Given the description of an element on the screen output the (x, y) to click on. 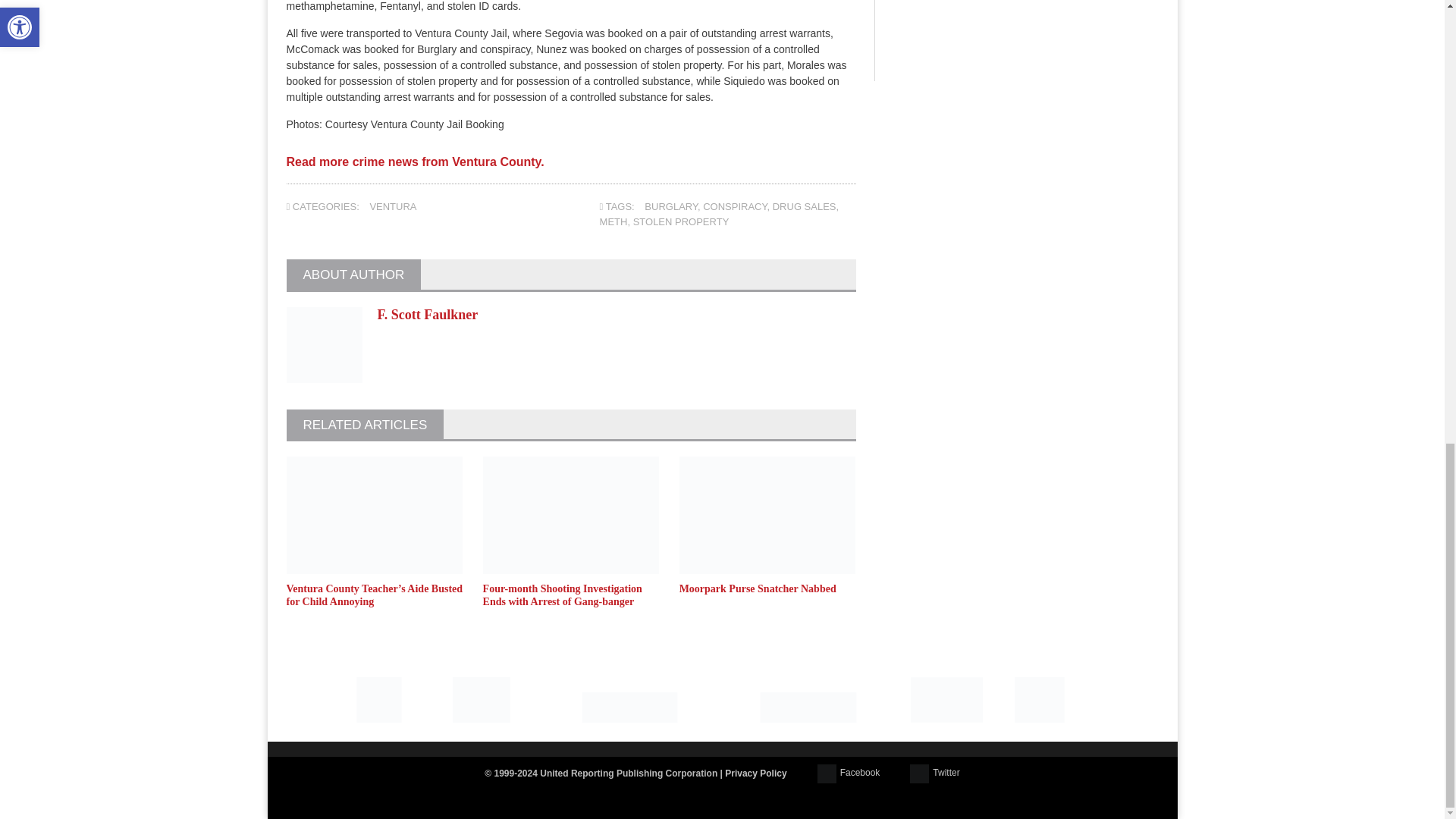
F. Scott Faulkner (428, 314)
Read more crime news from Ventura County. (415, 167)
VENTURA (392, 206)
BURGLARY (671, 206)
METH (613, 221)
STOLEN PROPERTY (681, 221)
CONSPIRACY (735, 206)
DRUG SALES (804, 206)
